Given the description of an element on the screen output the (x, y) to click on. 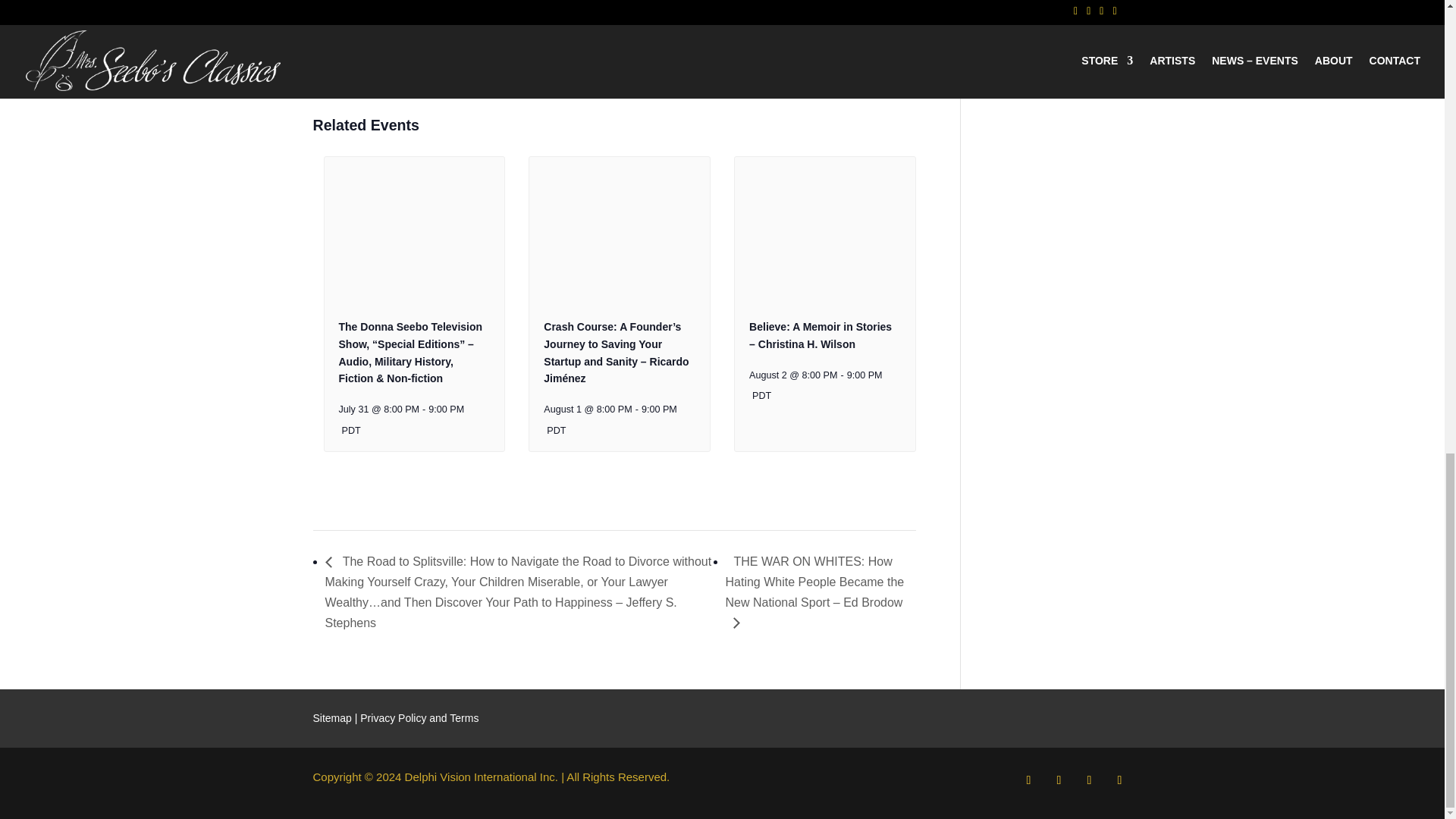
Follow on RSS (1118, 780)
Sitemap (331, 717)
Privacy Policy and Terms (419, 717)
Follow on Facebook (1028, 780)
Follow on Instagram (1088, 780)
Follow on X (1058, 780)
